Given the description of an element on the screen output the (x, y) to click on. 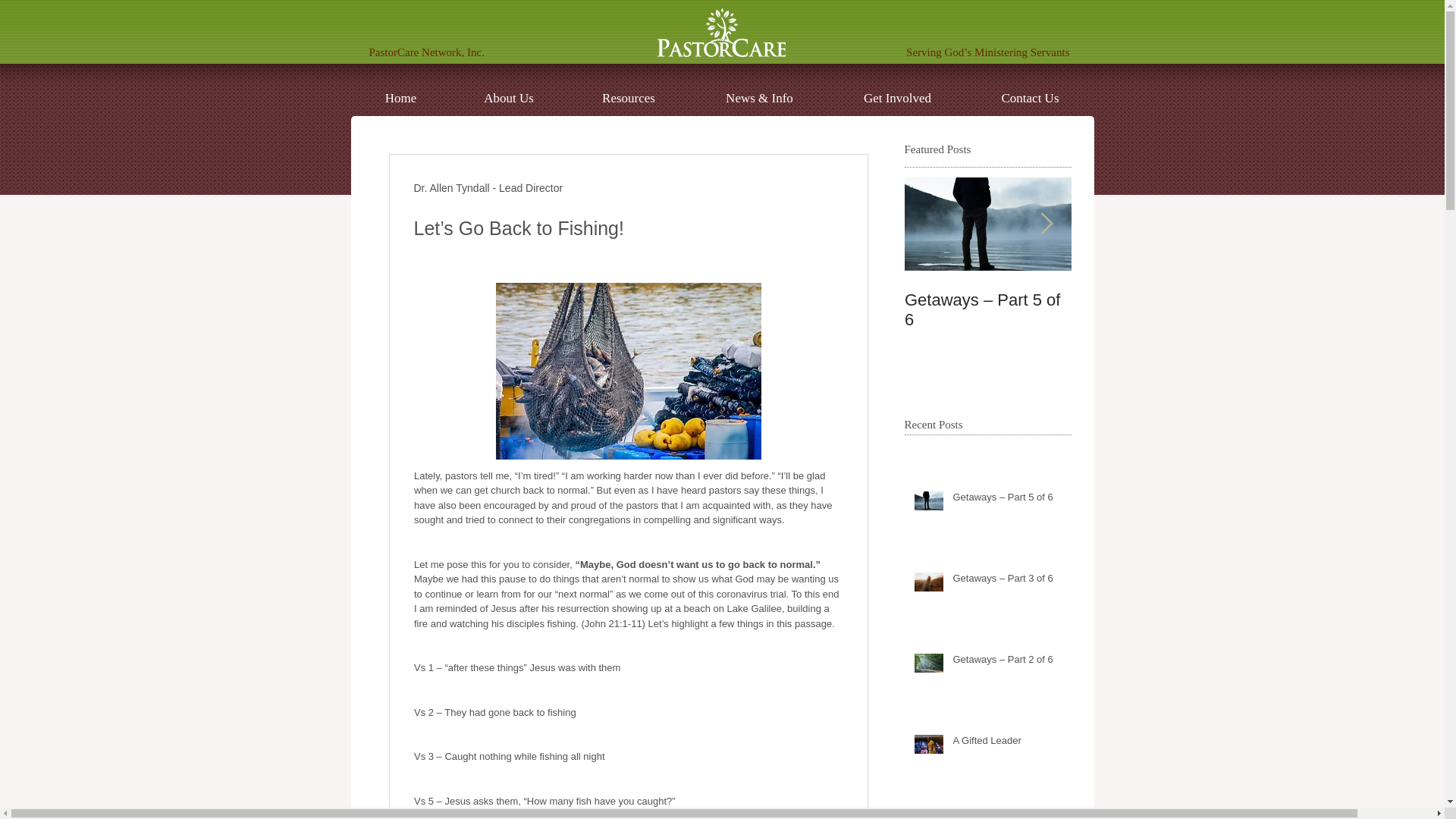
Dr. Allen Tyndall - Lead Director (488, 188)
Get Involved (897, 97)
About Us (507, 97)
Resources (628, 97)
Home (399, 97)
Contact Us (1029, 97)
